Given the description of an element on the screen output the (x, y) to click on. 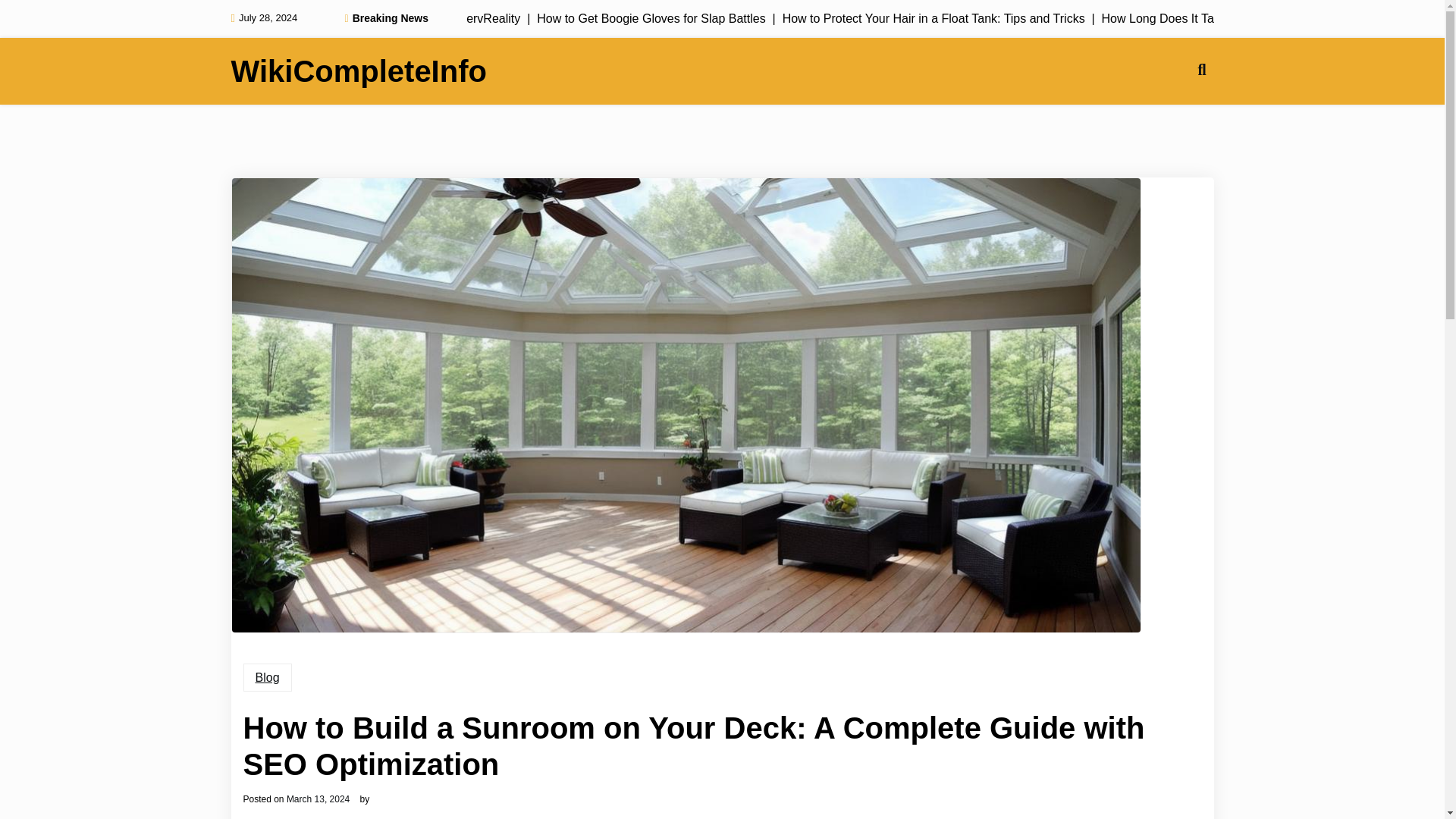
March 13, 2024 (317, 798)
Blog (267, 677)
WikiCompleteInfo (358, 71)
